Given the description of an element on the screen output the (x, y) to click on. 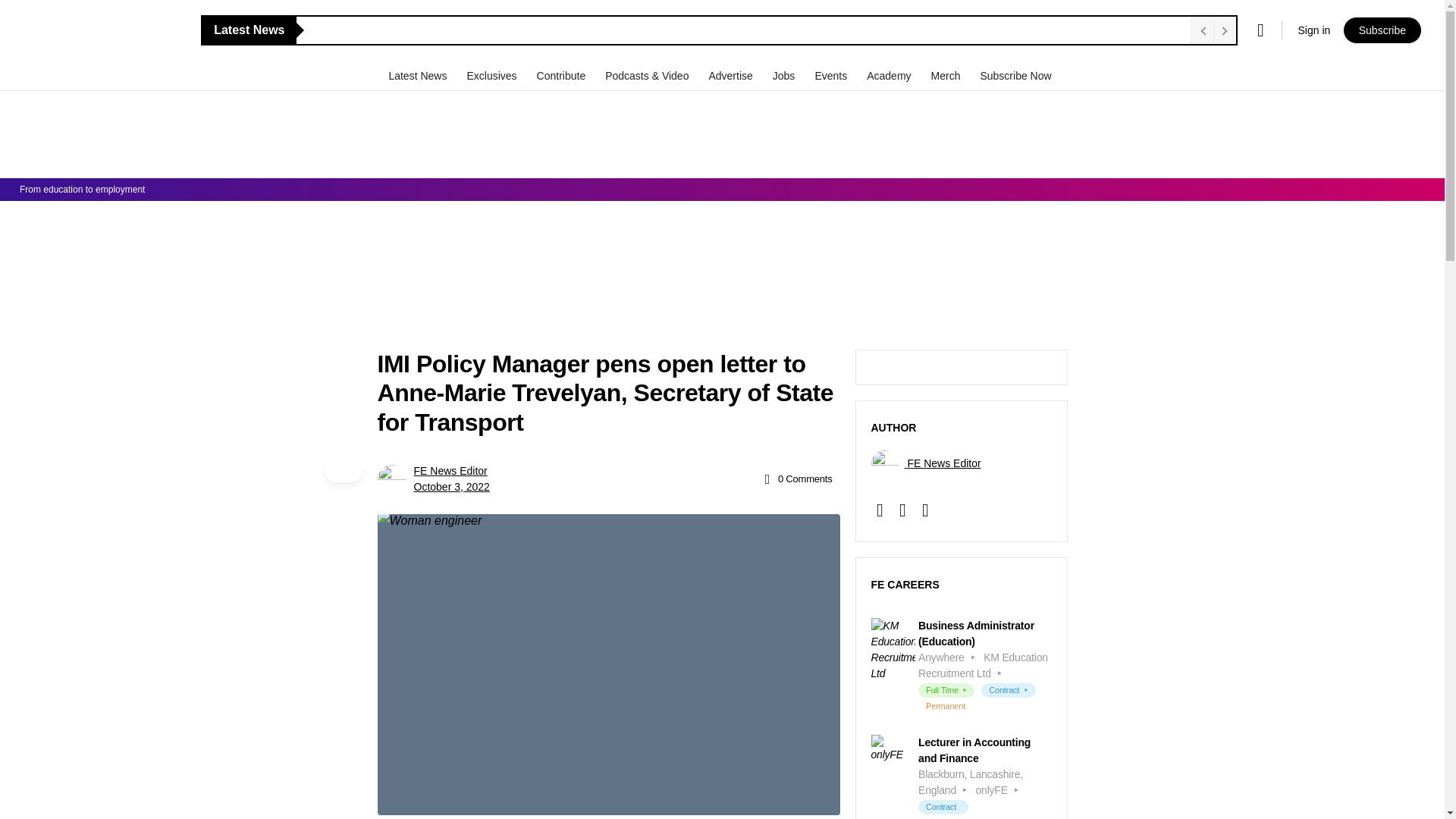
Exclusives (493, 75)
Subscribe (1382, 30)
Latest News (419, 75)
Sign in (1313, 30)
